Given the description of an element on the screen output the (x, y) to click on. 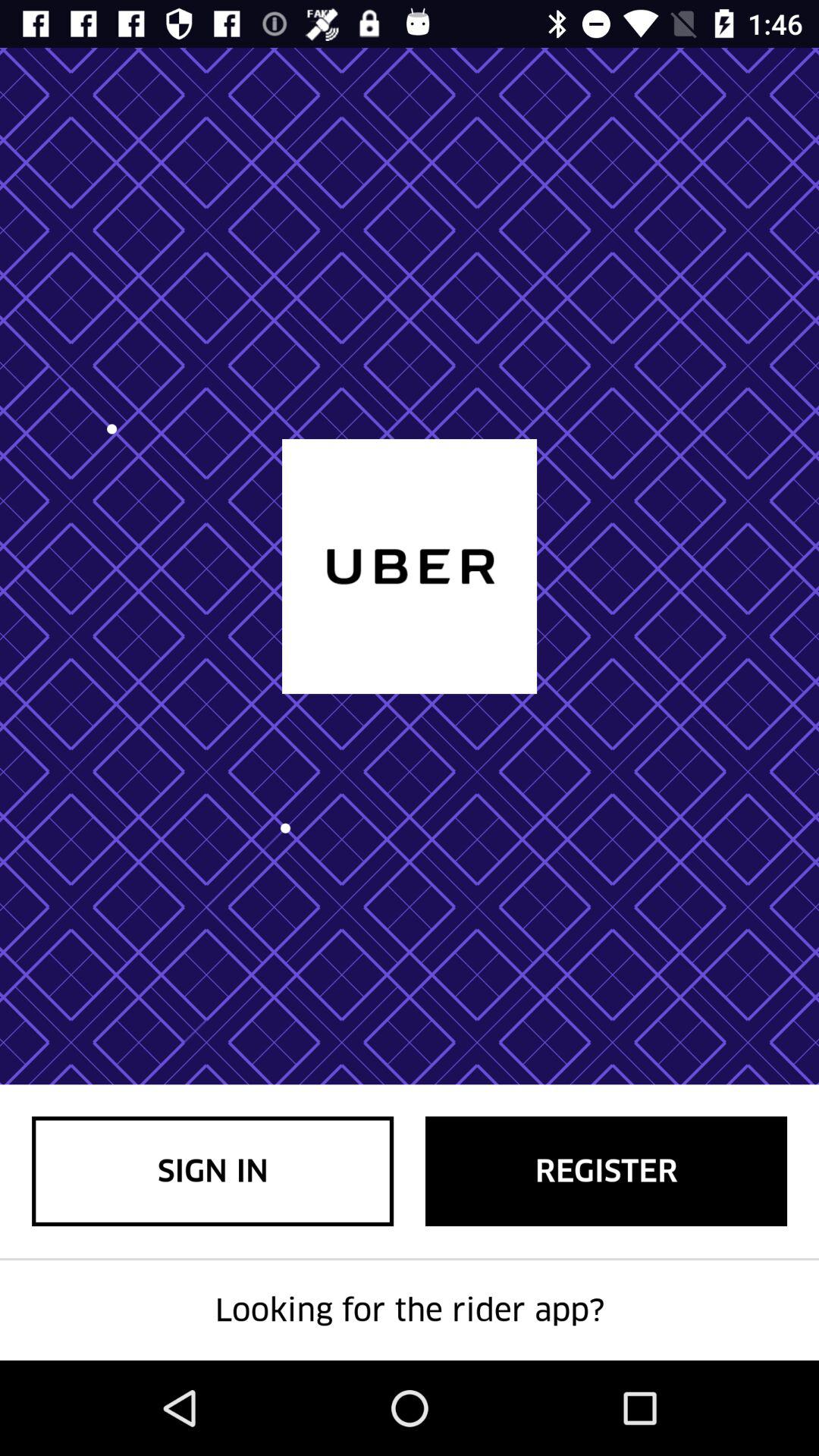
swipe to looking for the icon (409, 1310)
